Given the description of an element on the screen output the (x, y) to click on. 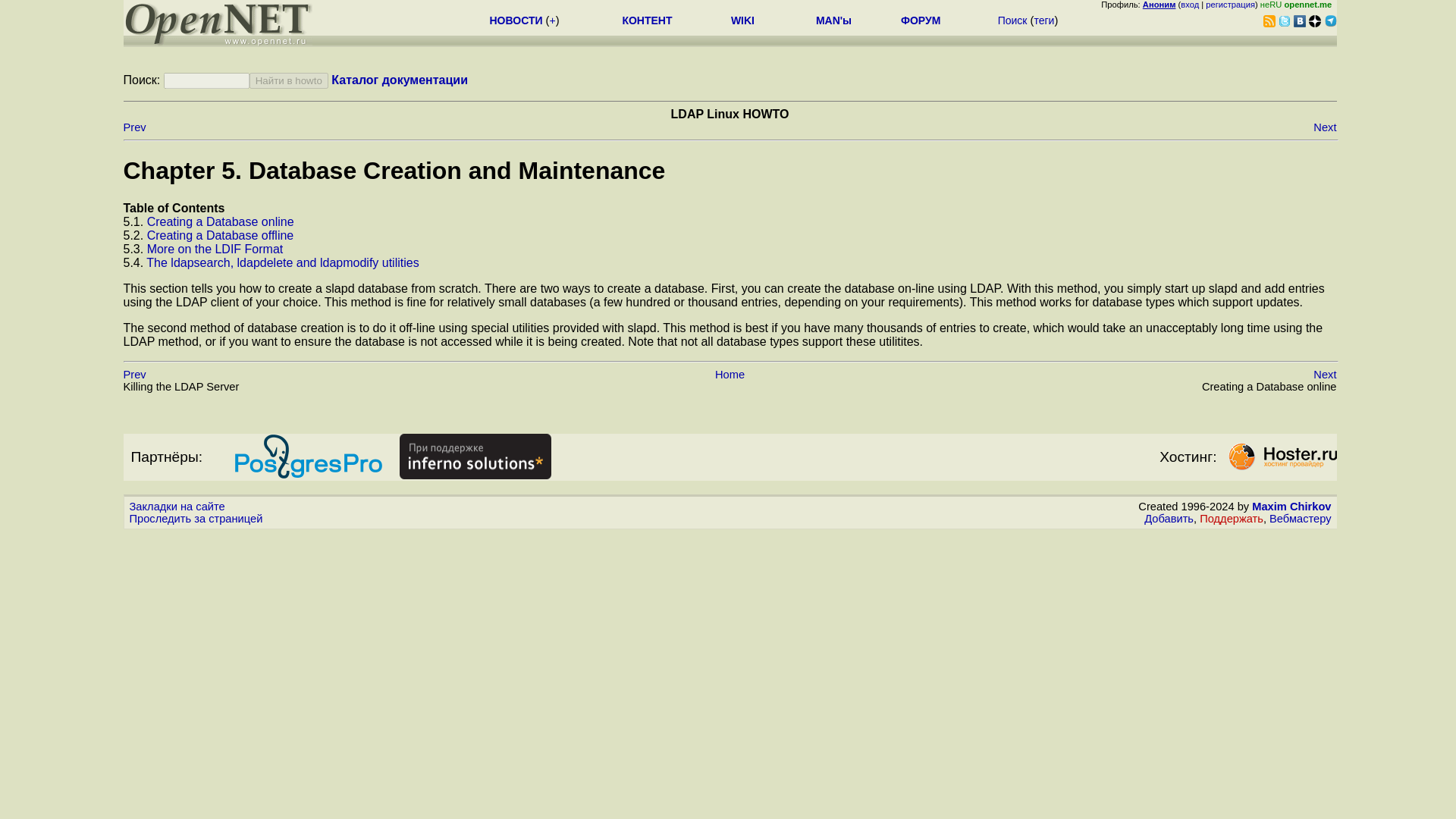
Table of Contents (173, 207)
Yandex Zen (1314, 21)
Creating a Database online (220, 221)
Prev (133, 127)
Next (1324, 374)
Prev (133, 374)
Home (729, 374)
Creating a Database offline (220, 235)
Chapter 5. Database Creation and Maintenance (393, 170)
Next (1324, 127)
Telegram (1329, 21)
WIKI (742, 20)
5.1. (134, 221)
More on the LDIF Format (215, 248)
RSS (1269, 21)
